Given the description of an element on the screen output the (x, y) to click on. 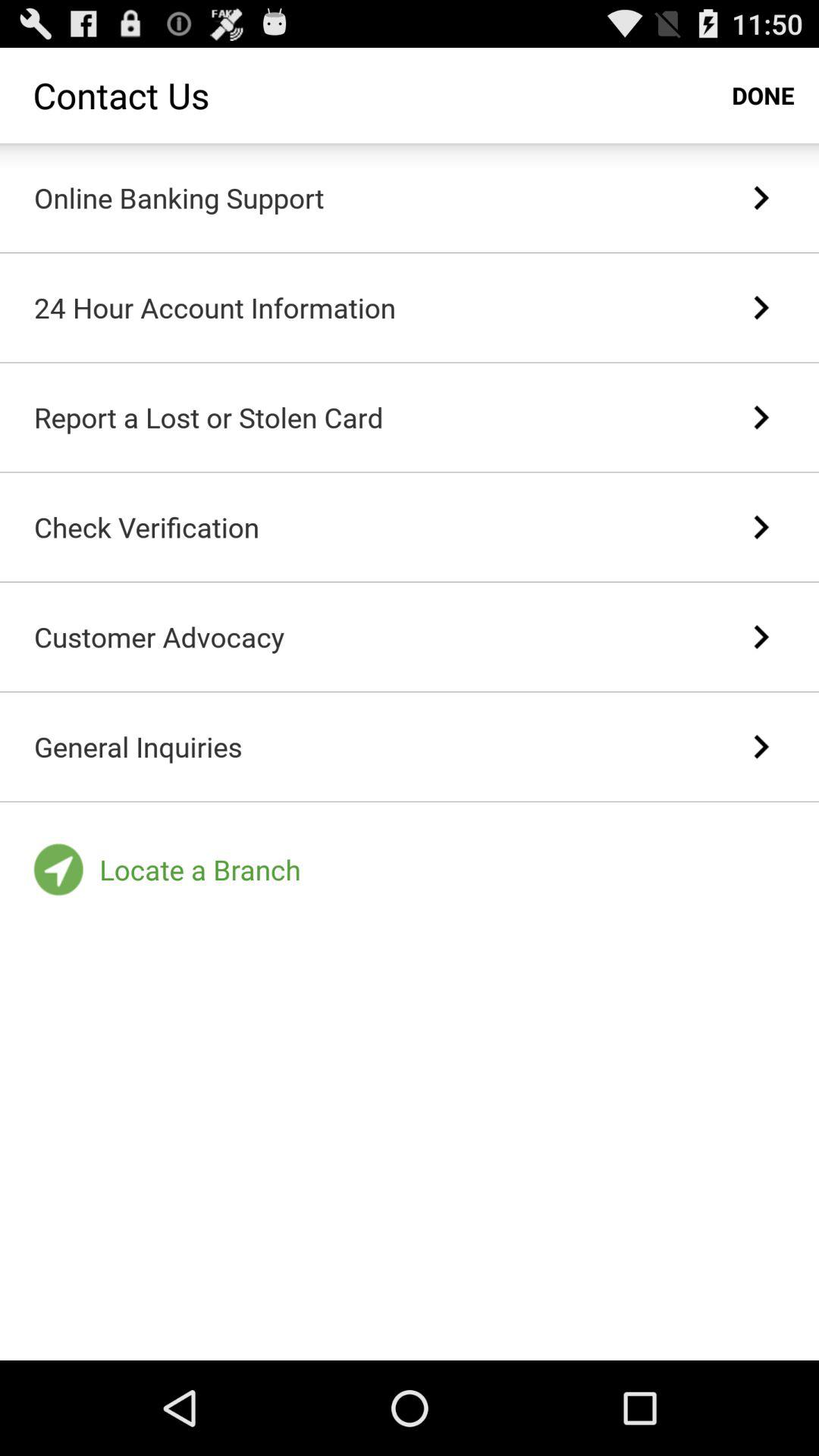
click on the icon bottom left corner (59, 869)
select the third arrow icon from top (760, 416)
click the arrow mark beside customer advocacy (760, 636)
select the text  locate a branch at the bottom of the page (200, 869)
click on the arrow mark beside the general inquiries (760, 747)
